Given the description of an element on the screen output the (x, y) to click on. 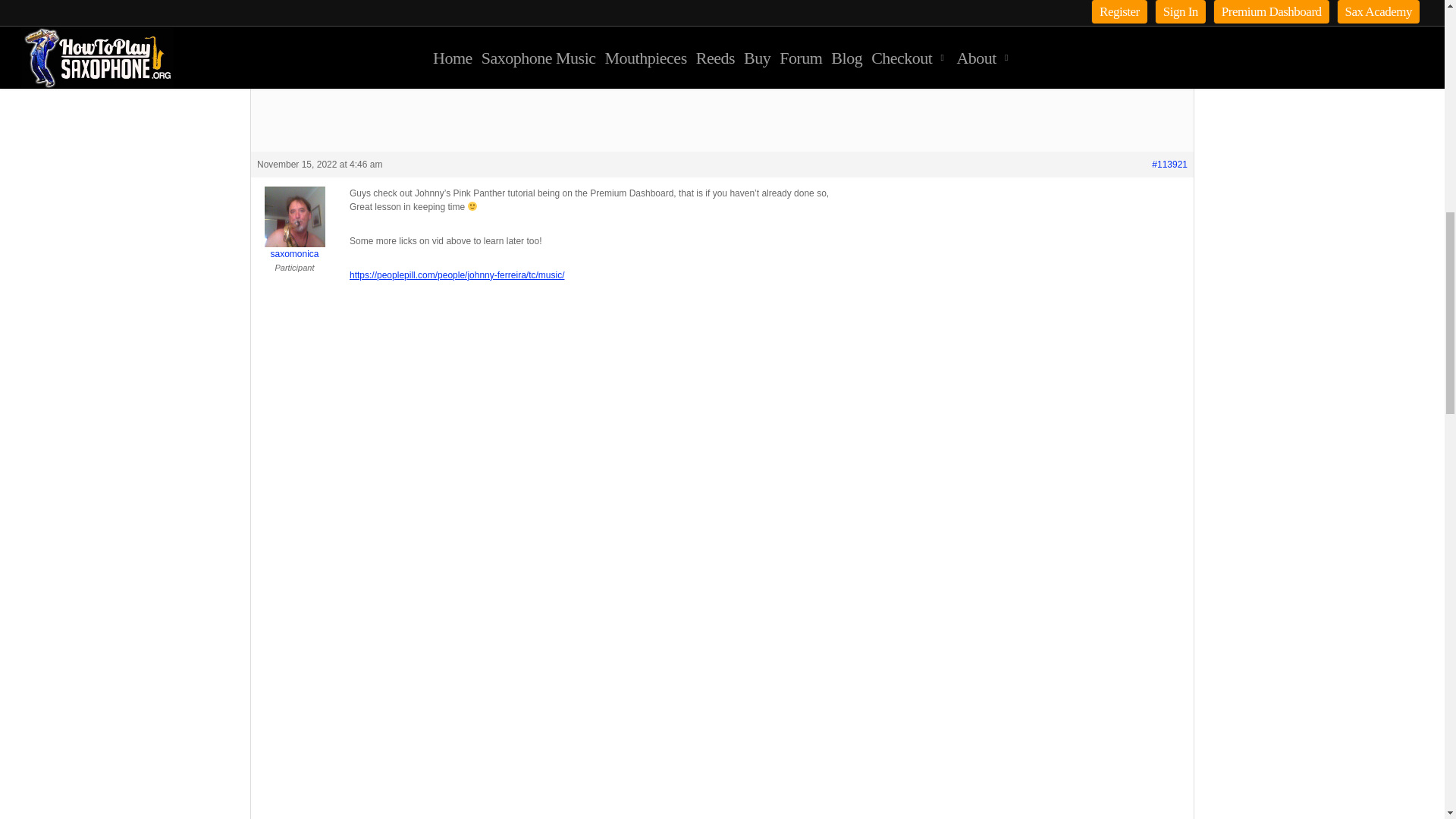
saxomonica (293, 223)
View saxomonica's profile (293, 223)
Pink Panther Theme Song (767, 58)
